Given the description of an element on the screen output the (x, y) to click on. 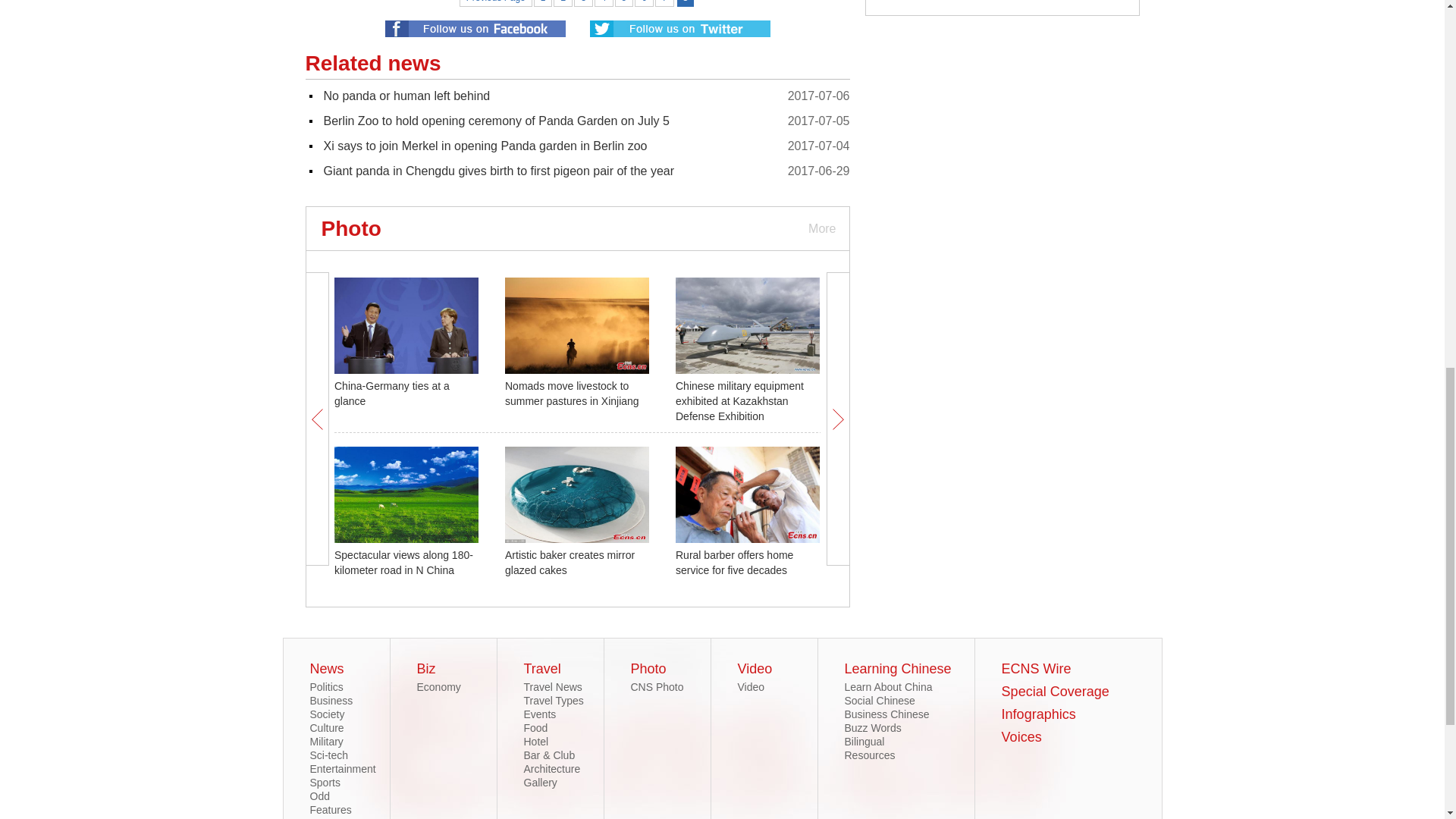
2 (562, 3)
1 (543, 3)
Previous Page (496, 3)
5 (623, 3)
Xi says to join Merkel in opening Panda garden in Berlin zoo (484, 145)
6 (643, 3)
4 (603, 3)
3 (582, 3)
7 (664, 3)
